Given the description of an element on the screen output the (x, y) to click on. 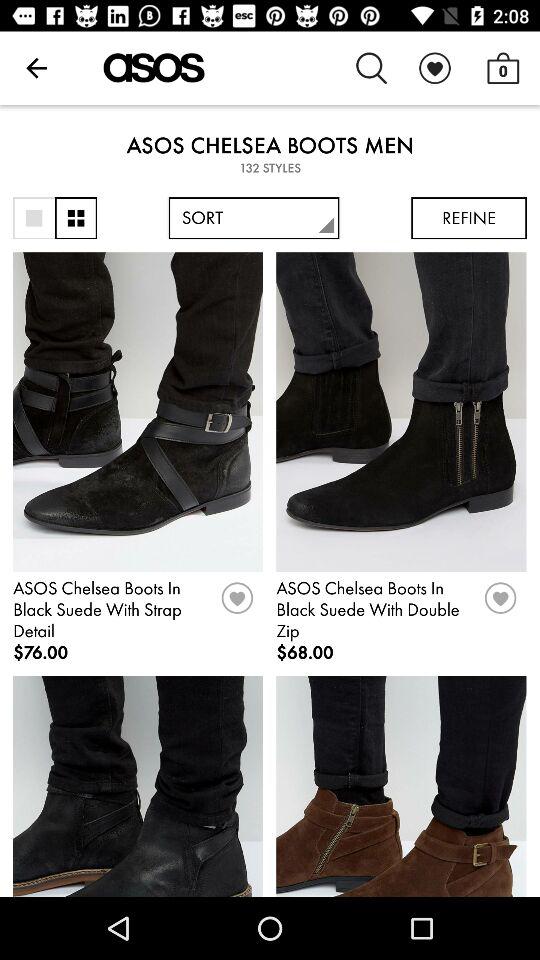
turn on refine item (468, 218)
